Given the description of an element on the screen output the (x, y) to click on. 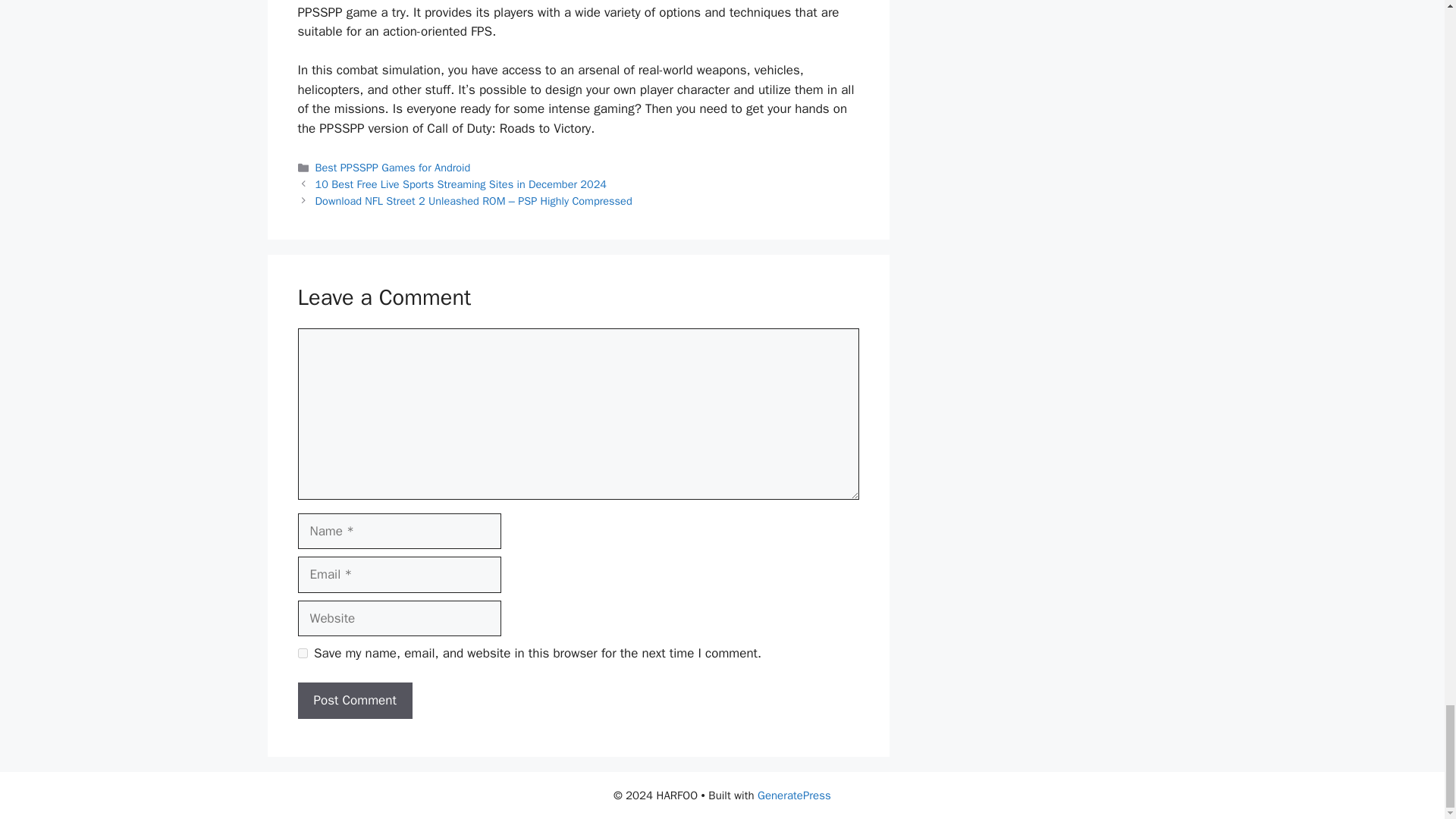
10 Best Free Live Sports Streaming Sites in December 2024 (461, 183)
Post Comment (354, 700)
Best PPSSPP Games for Android (392, 167)
yes (302, 653)
Post Comment (354, 700)
